Given the description of an element on the screen output the (x, y) to click on. 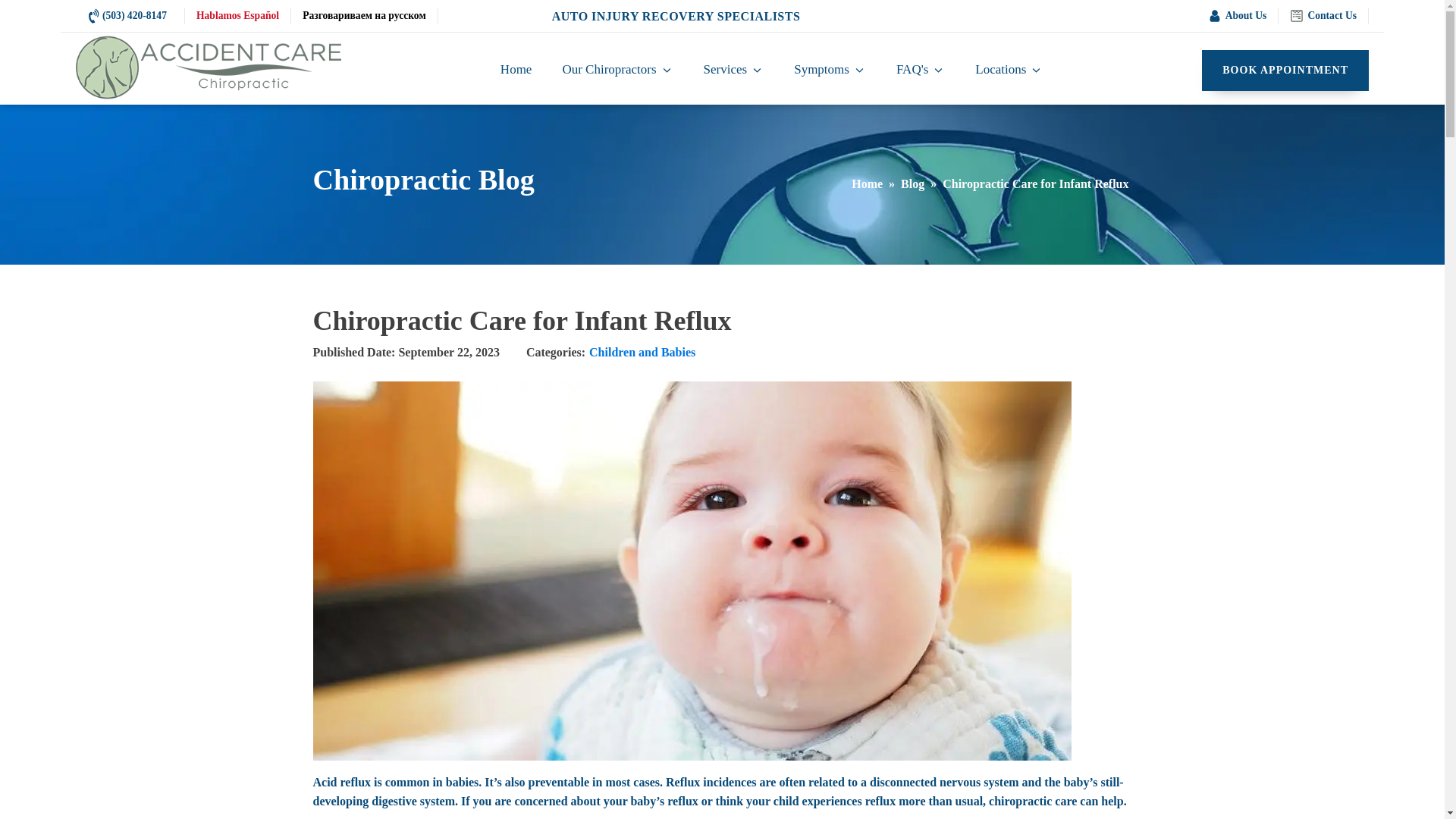
About Us (1237, 15)
Our Chiropractors (617, 70)
Contact Us (1323, 15)
Breadcrumb link to Home (866, 183)
Home (515, 70)
